Given the description of an element on the screen output the (x, y) to click on. 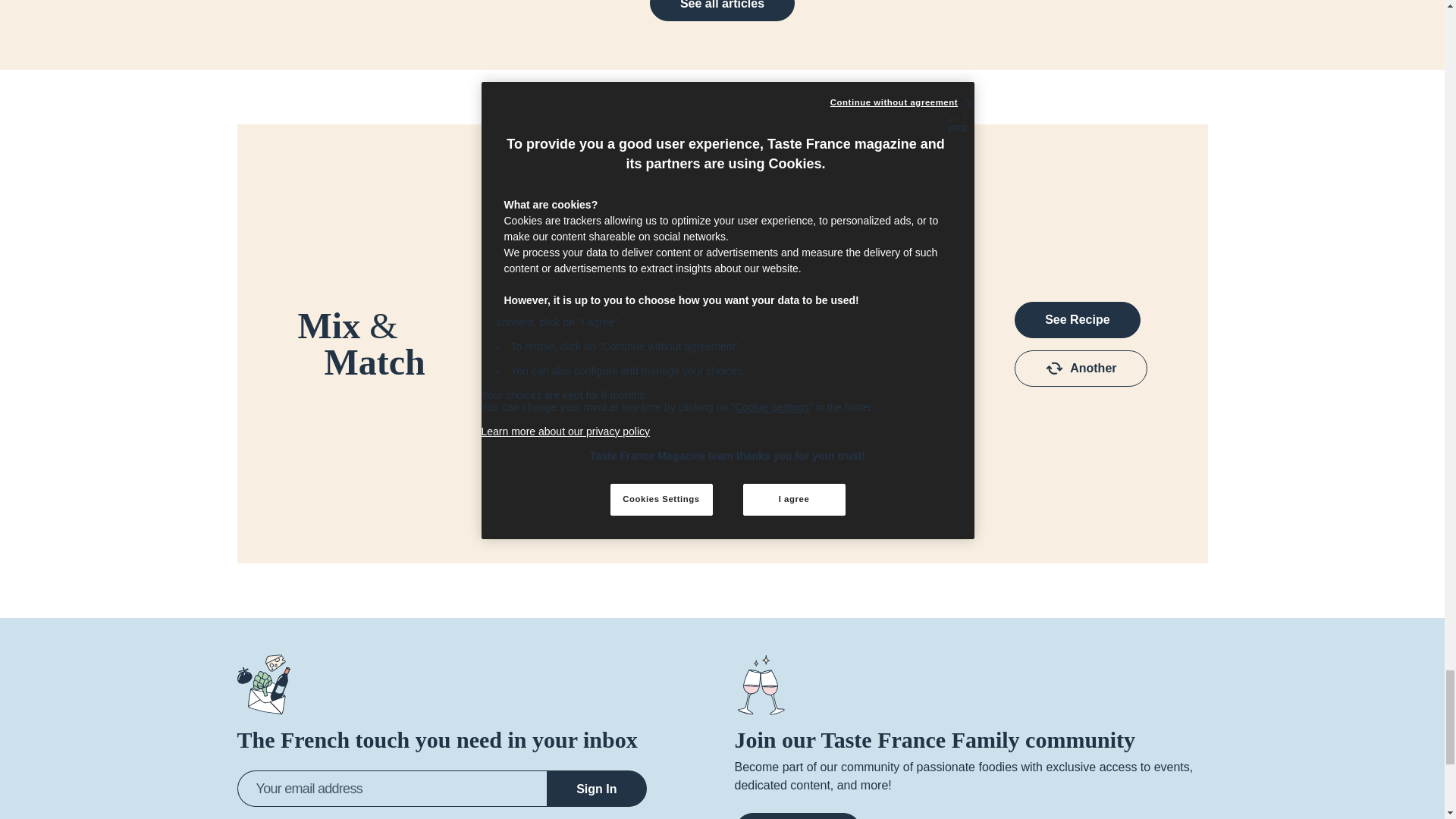
Another (1080, 368)
Sign In (596, 788)
See Recipe (1077, 320)
See all articles (721, 10)
